Given the description of an element on the screen output the (x, y) to click on. 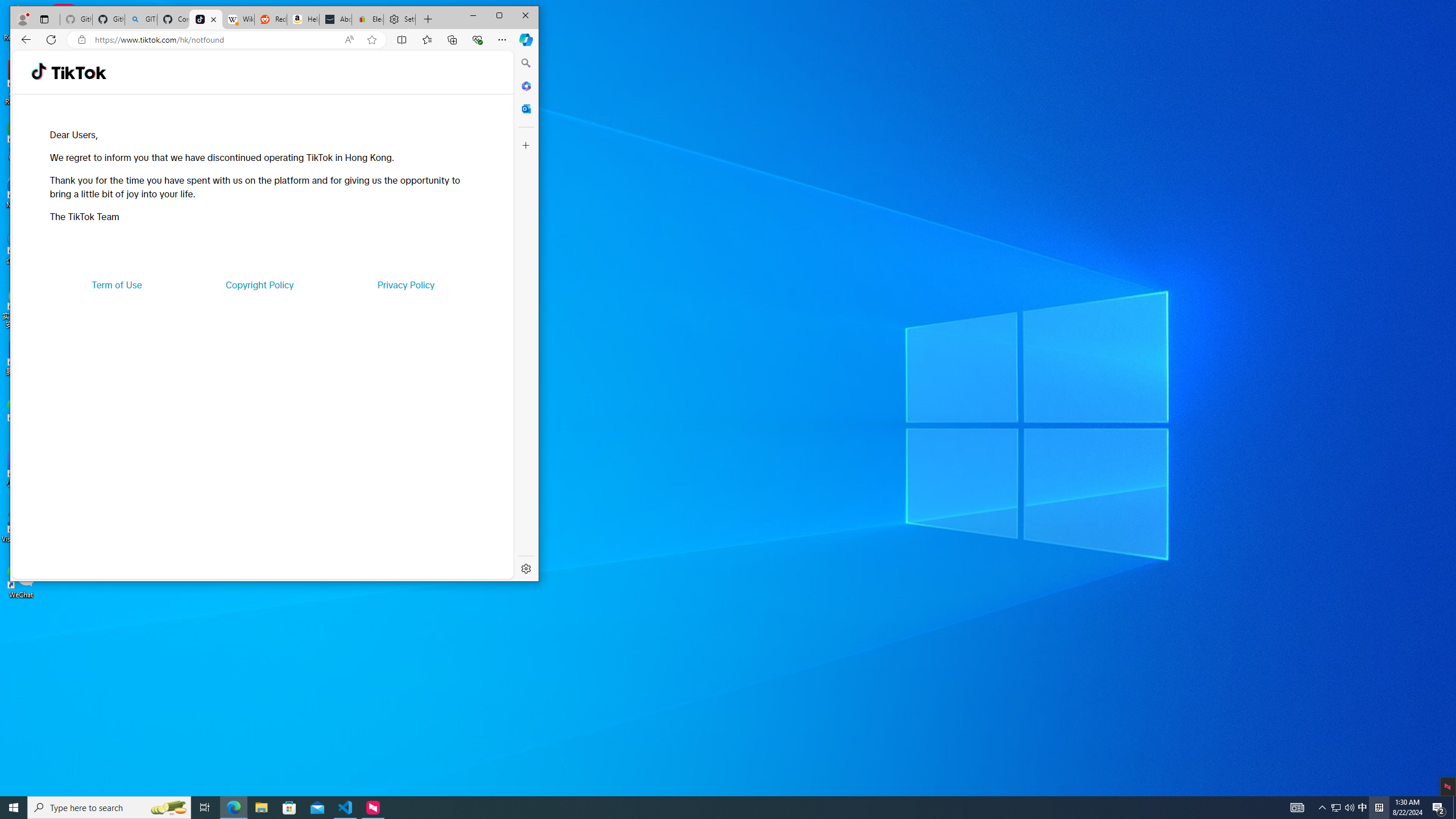
Wikipedia, the free encyclopedia (237, 19)
